Given the description of an element on the screen output the (x, y) to click on. 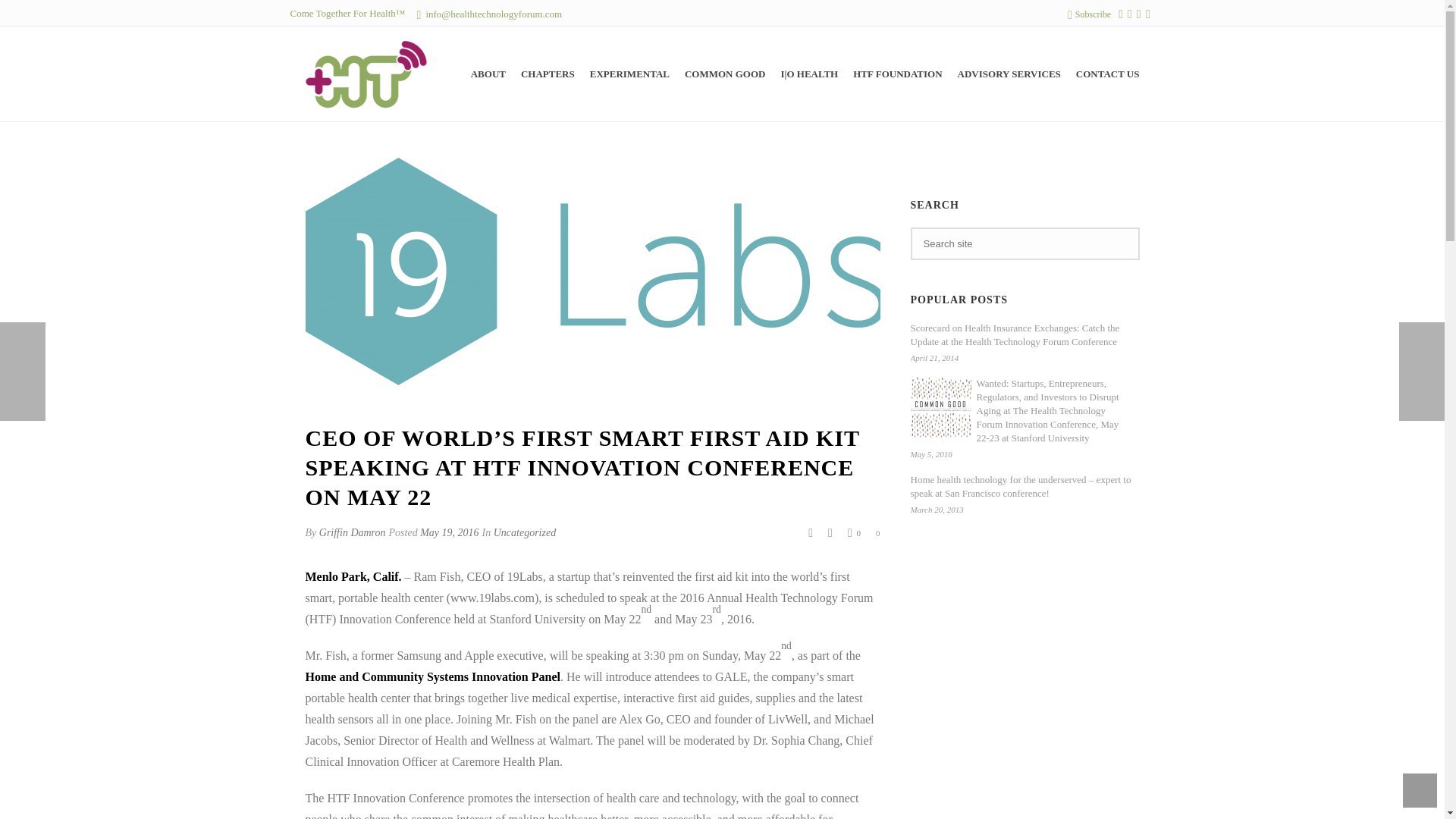
EXPERIMENTAL (629, 74)
Posts by Griffin Damron (351, 532)
CHAPTERS (547, 74)
ABOUT (488, 74)
Subscribe (1088, 14)
COMMON GOOD (725, 74)
